Given the description of an element on the screen output the (x, y) to click on. 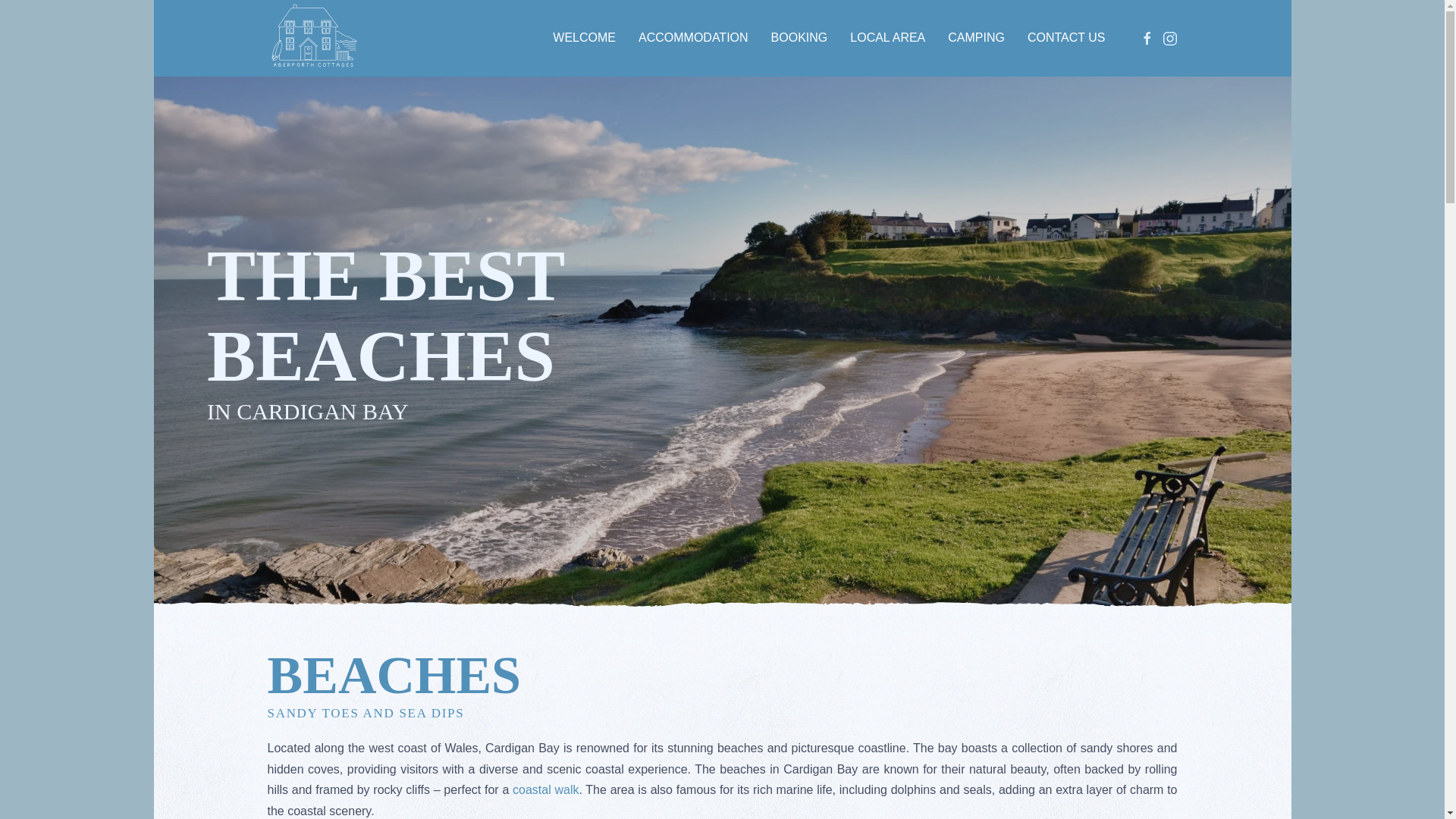
WELCOME (584, 38)
CAMPING (976, 38)
SANDY TOES AND SEA DIPS (721, 713)
CONTACT US (1066, 38)
BEACHES (721, 675)
coastal walk (545, 789)
LOCAL AREA (887, 38)
ACCOMMODATION (693, 38)
BOOKING (800, 38)
